Given the description of an element on the screen output the (x, y) to click on. 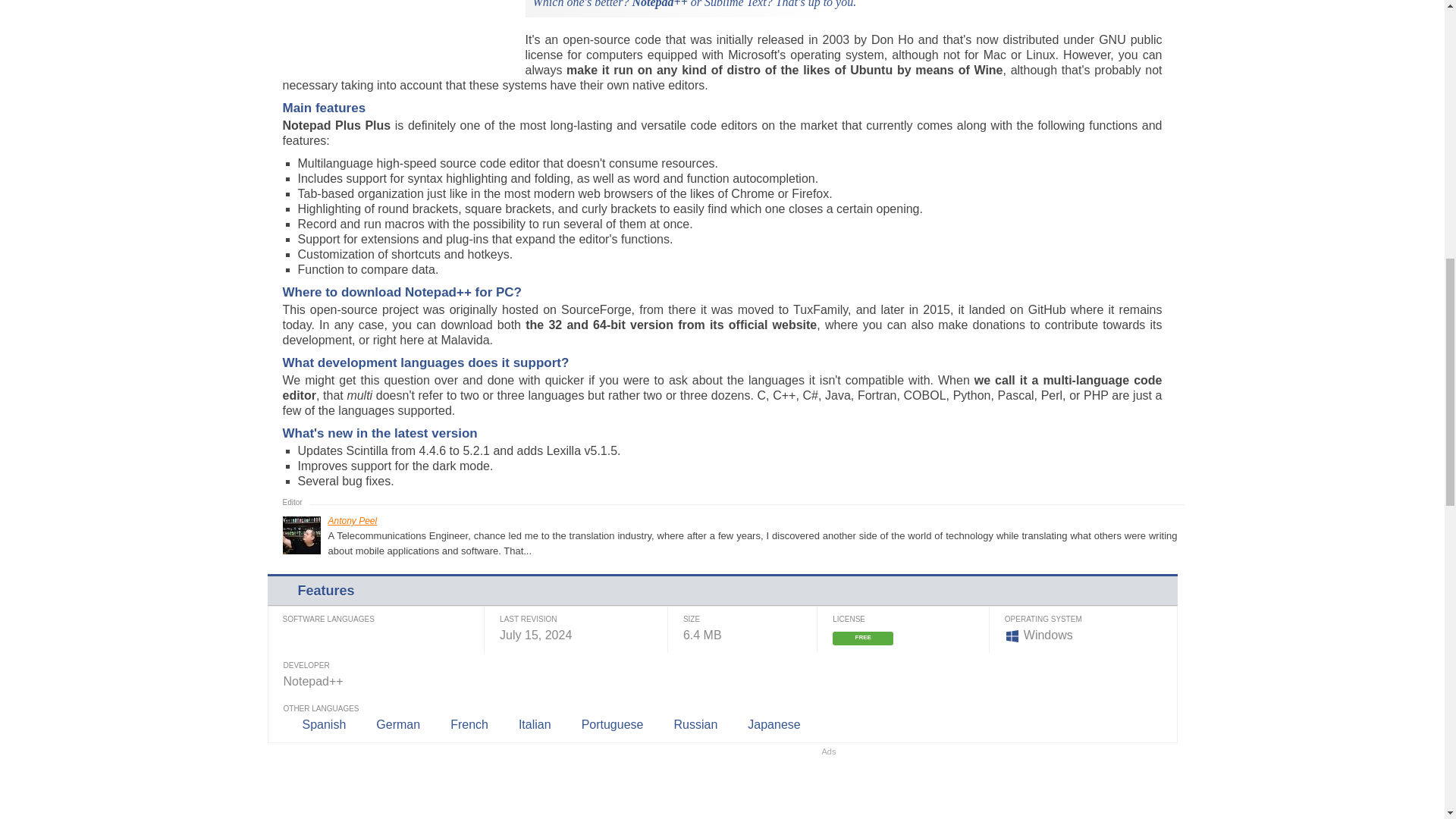
Italian (534, 724)
Russian (694, 724)
Japanese (773, 724)
Spanish (323, 724)
German (397, 724)
French (468, 724)
Antony Peel (352, 520)
Portuguese (611, 724)
